Given the description of an element on the screen output the (x, y) to click on. 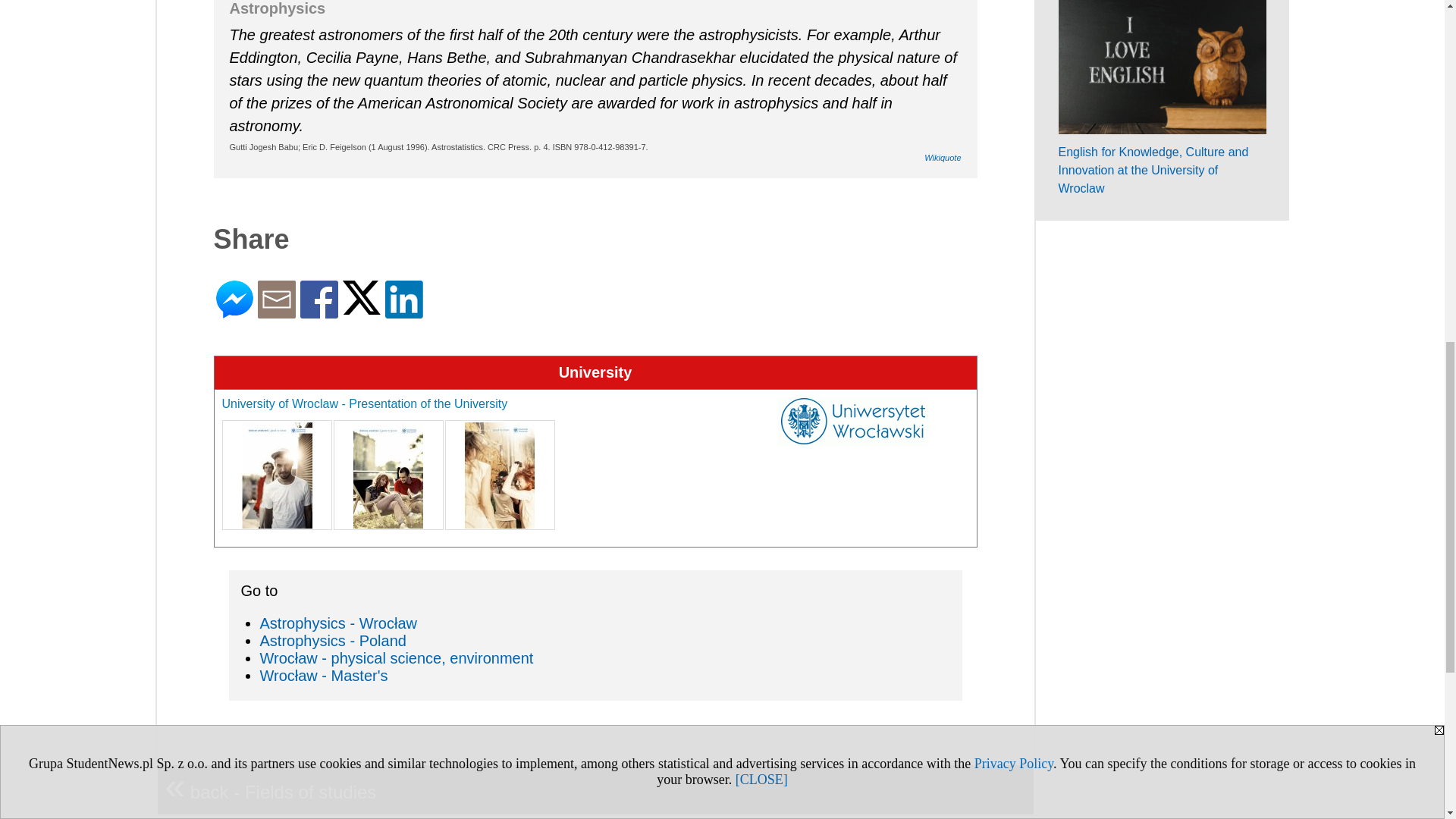
Facebook (318, 312)
LinkedIn (404, 312)
Messenger (233, 312)
e-mail (276, 312)
Twitter (361, 308)
Wikiquote (942, 157)
